Given the description of an element on the screen output the (x, y) to click on. 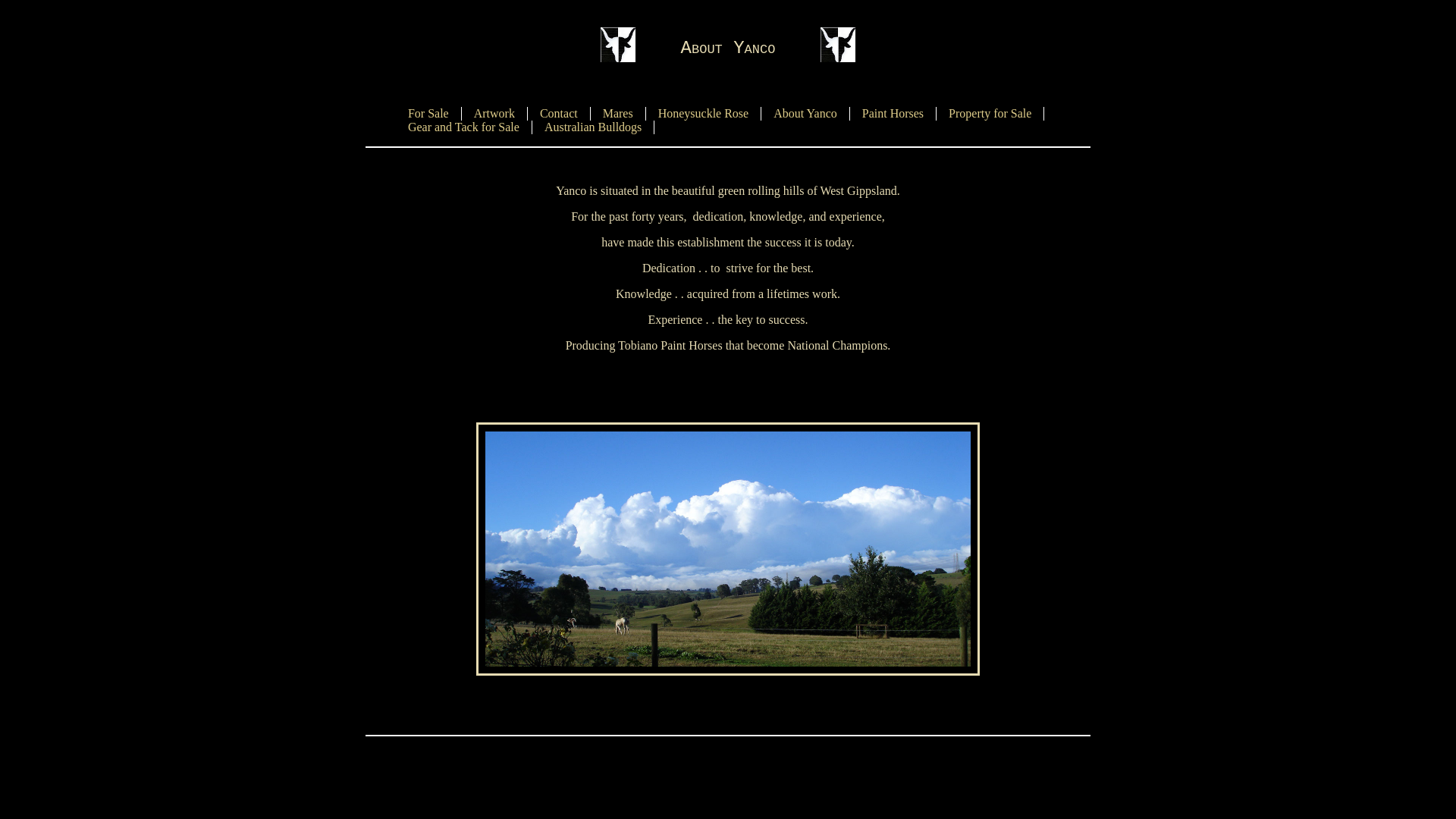
Property for Sale Element type: text (989, 112)
Paint Horses Element type: text (892, 112)
Contact Element type: text (558, 112)
For Sale Element type: text (427, 112)
About Yanco Element type: text (805, 112)
Australian Bulldogs Element type: text (592, 126)
Artwork Element type: text (493, 112)
Gear and Tack for Sale Element type: text (463, 126)
Mares Element type: text (617, 112)
Honeysuckle Rose Element type: text (703, 112)
